Given the description of an element on the screen output the (x, y) to click on. 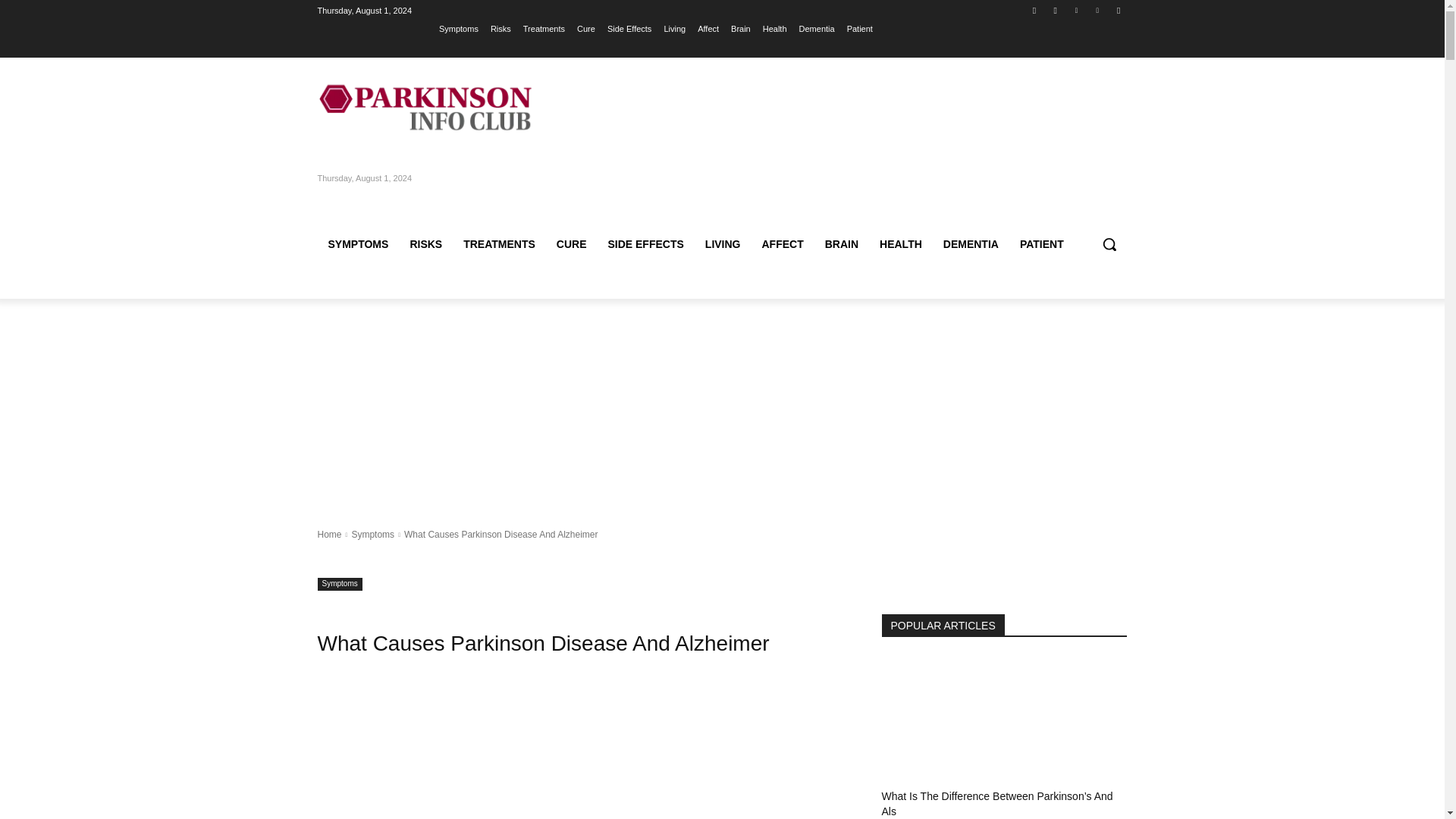
Risks (500, 28)
Facebook (1034, 9)
Twitter (1075, 9)
Patient (859, 28)
View all posts in Symptoms (372, 534)
RISKS (425, 244)
Symptoms (459, 28)
Vimeo (1097, 9)
Youtube (1117, 9)
Parkinson's Info Club (425, 108)
SYMPTOMS (357, 244)
Health (774, 28)
Affect (708, 28)
Treatments (543, 28)
Advertisement (580, 755)
